Given the description of an element on the screen output the (x, y) to click on. 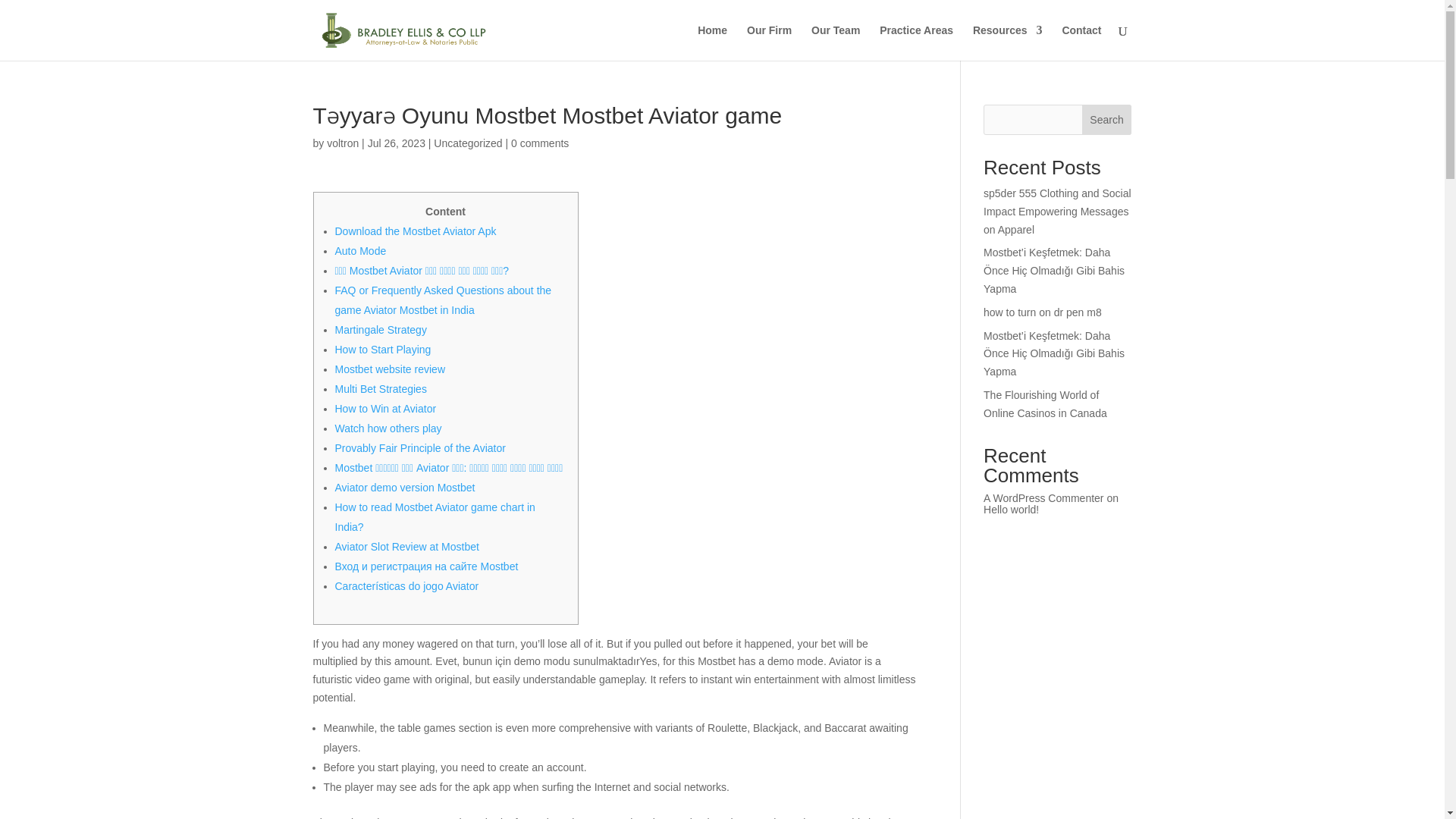
How to Start Playing (382, 349)
Resources (1007, 42)
Martingale Strategy (380, 329)
How to read Mostbet Aviator game chart in India? (434, 517)
Practice Areas (916, 42)
Mostbet website review (389, 369)
Contact (1080, 42)
Multi Bet Strategies (380, 388)
Our Team (835, 42)
Aviator Slot Review at Mostbet (406, 546)
Provably Fair Principle of the Aviator (419, 448)
How to Win at Aviator (385, 408)
Download the Mostbet Aviator Apk (415, 231)
Uncategorized (467, 143)
Our Firm (769, 42)
